Given the description of an element on the screen output the (x, y) to click on. 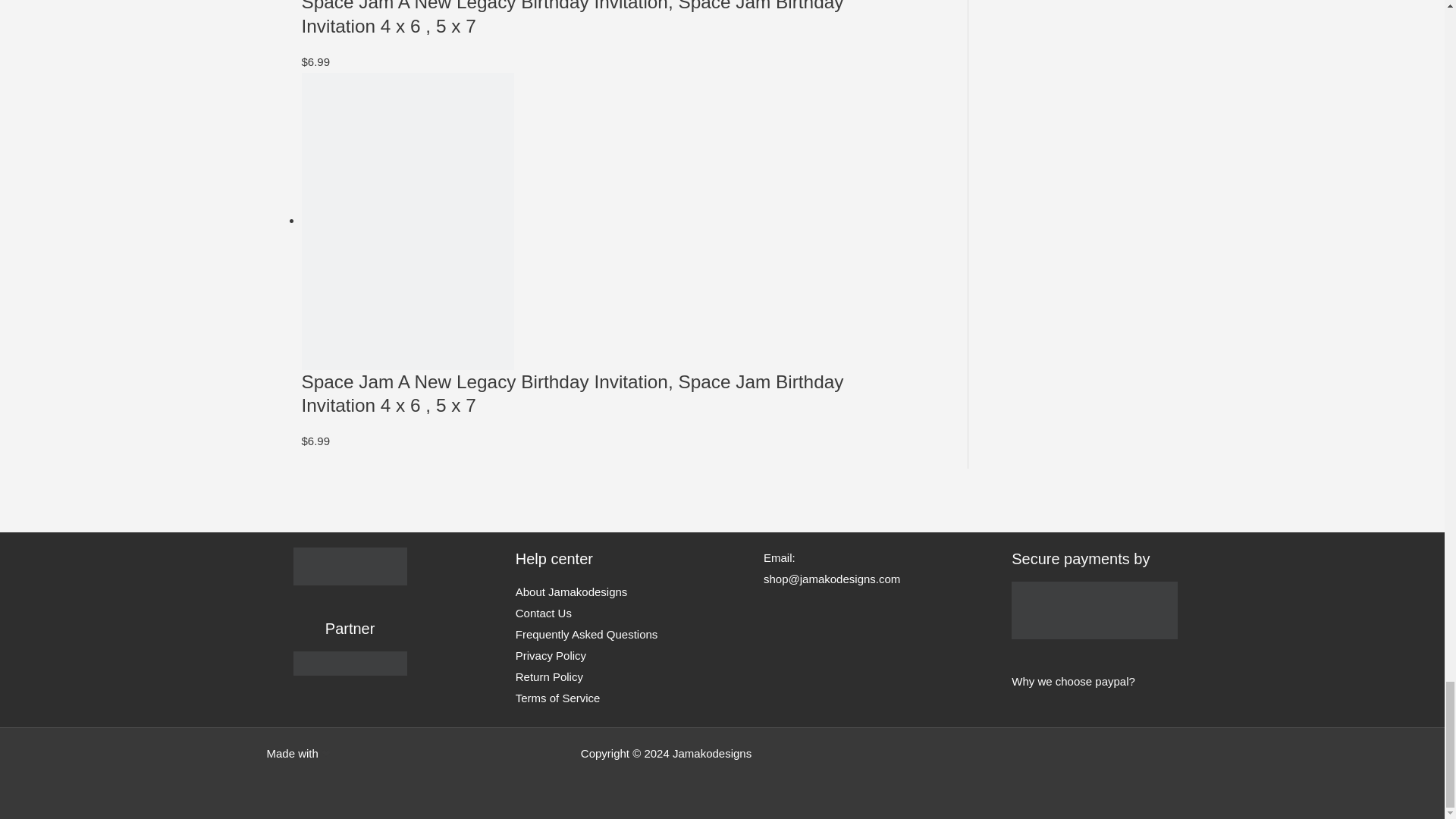
Partner (350, 663)
